Given the description of an element on the screen output the (x, y) to click on. 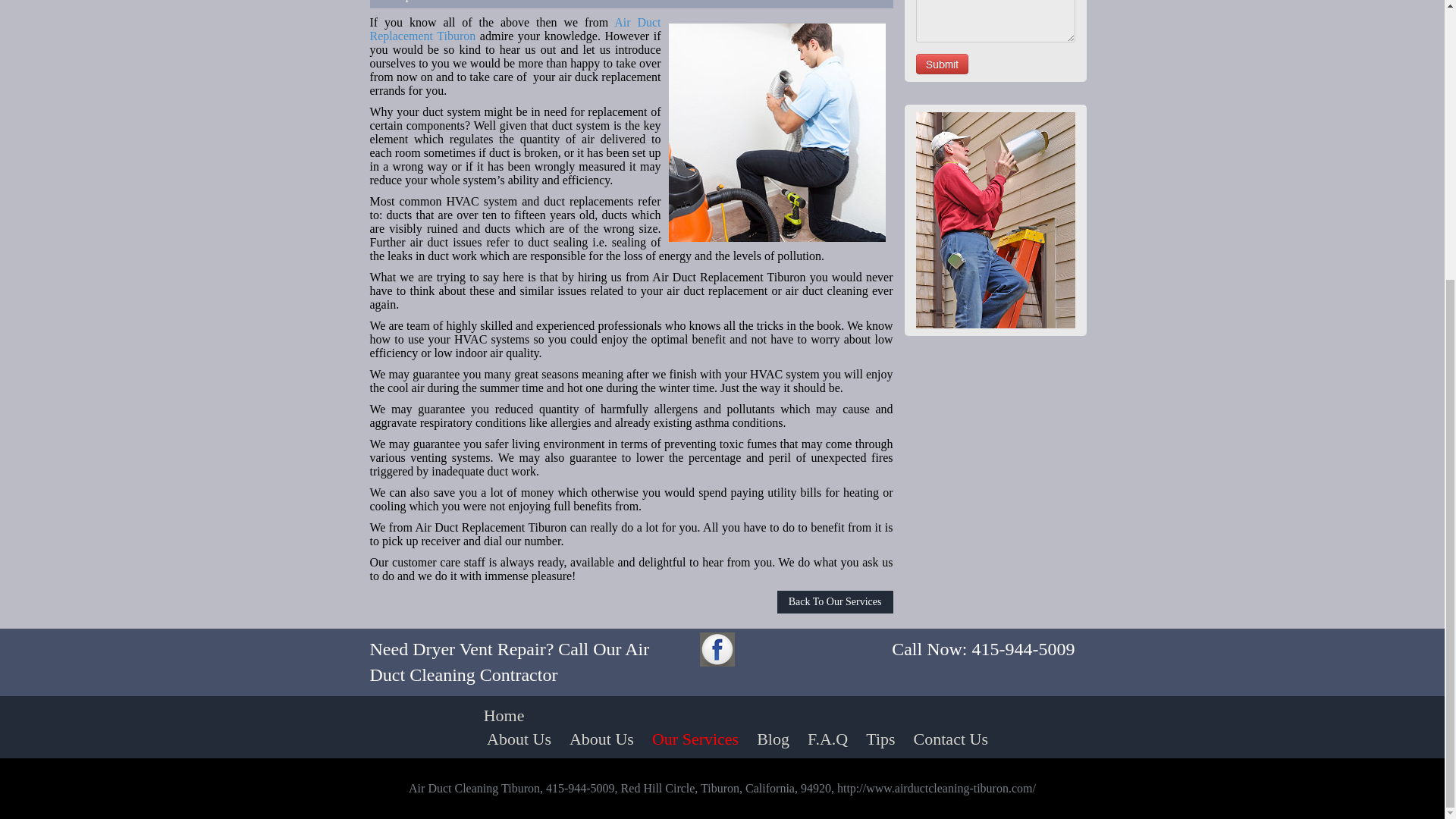
Blog (772, 739)
Air Duct Replacement Tiburon (515, 28)
Contact Us (950, 739)
About Us (518, 739)
Back To Our Services (835, 601)
Tips (880, 739)
Air Duct Replacement (776, 132)
Our Services (695, 739)
About Us (601, 739)
Home (503, 715)
F.A.Q (827, 739)
